Given the description of an element on the screen output the (x, y) to click on. 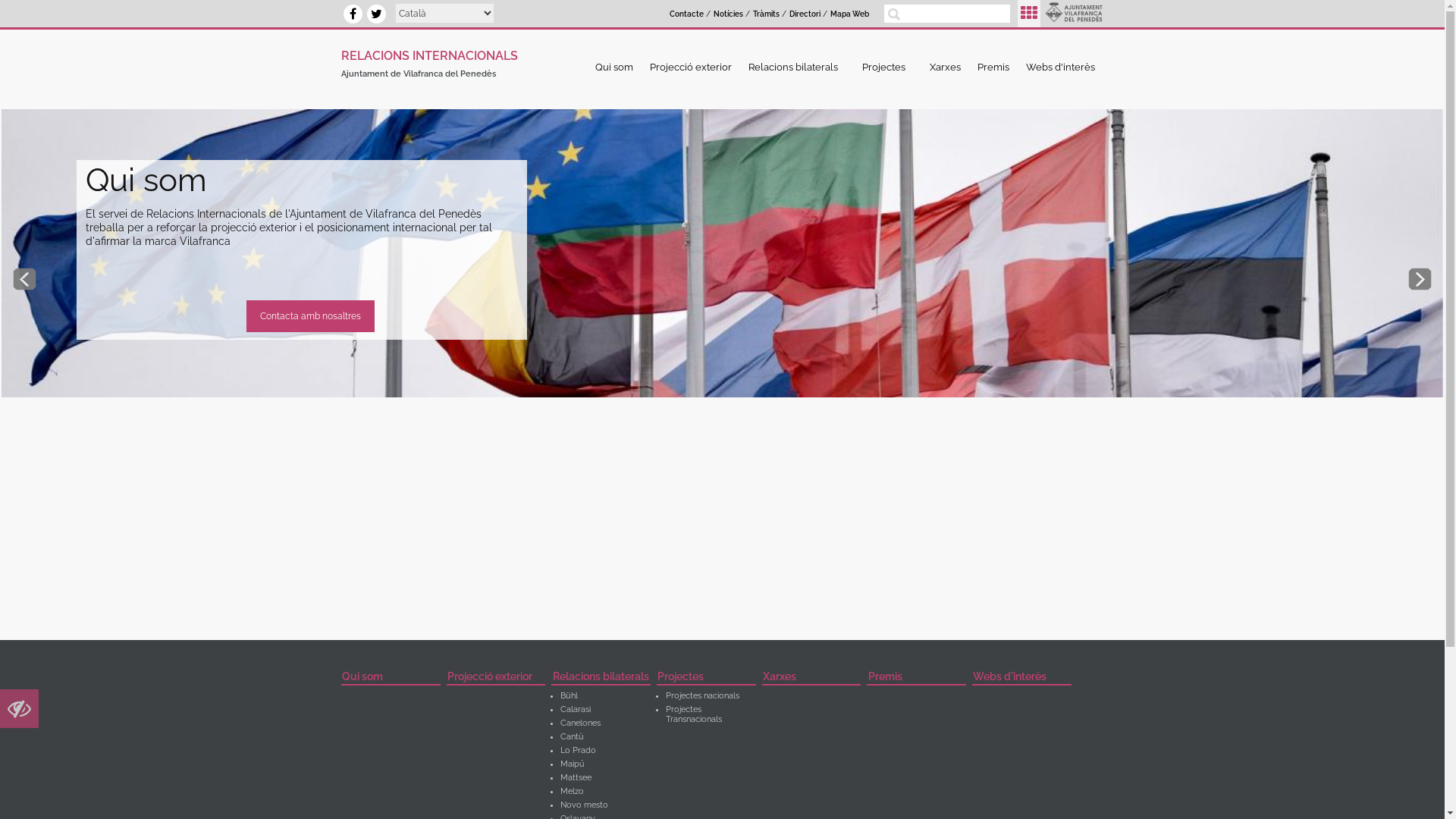
RELACIONS INTERNACIONALS Element type: text (429, 53)
Contacta amb nosaltres Element type: text (310, 316)
Premis Element type: text (916, 677)
Xarxes Element type: text (944, 66)
Lo Prado Element type: text (578, 750)
Mattsee Element type: text (575, 777)
Melzo Element type: text (571, 791)
Contacte Element type: text (686, 14)
Premis Element type: text (993, 66)
Qui som Element type: text (614, 66)
Xarxes Element type: text (811, 677)
Projectes Element type: text (887, 66)
Calarasi Element type: text (575, 709)
Mapa Web Element type: text (849, 14)
Canelones Element type: text (580, 723)
Projectes nacionals Element type: text (702, 695)
Relacions bilaterals Element type: text (796, 66)
Novo mesto Element type: text (584, 804)
Projectes Element type: text (706, 677)
Accessibilitat Element type: hover (19, 712)
Projectes Transnacionals Element type: text (693, 714)
Directori Element type: text (804, 14)
Relacions bilaterals Element type: text (600, 677)
Anterior Element type: text (24, 278)
Qui som Element type: text (390, 677)
